Given the description of an element on the screen output the (x, y) to click on. 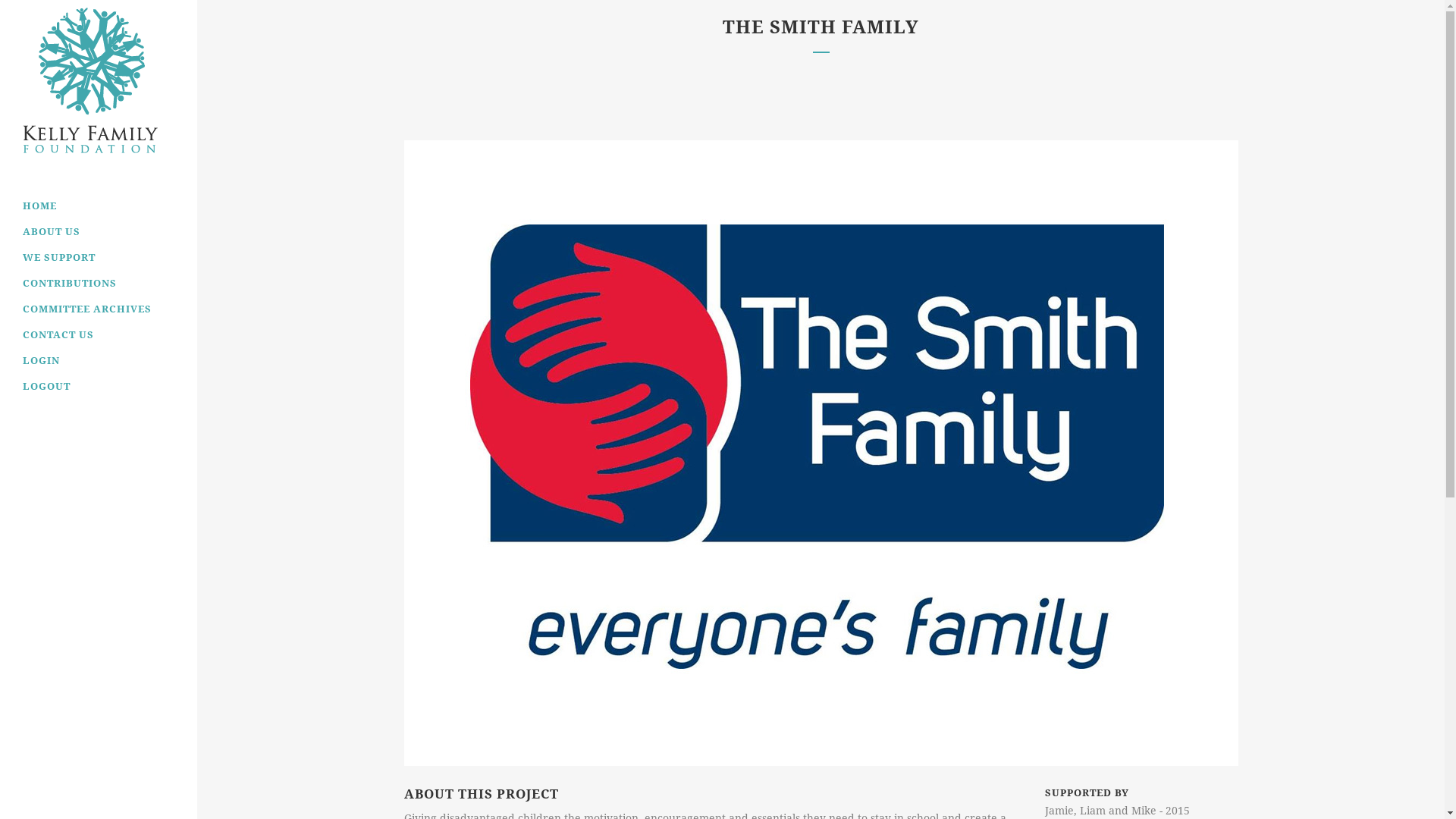
CONTRIBUTIONS Element type: text (98, 283)
CONTACT US Element type: text (98, 335)
ABOUT US Element type: text (98, 231)
WE SUPPORT Element type: text (98, 257)
COMMITTEE ARCHIVES Element type: text (98, 309)
LOGOUT Element type: text (98, 386)
LOGIN Element type: text (98, 360)
HOME Element type: text (98, 206)
